Given the description of an element on the screen output the (x, y) to click on. 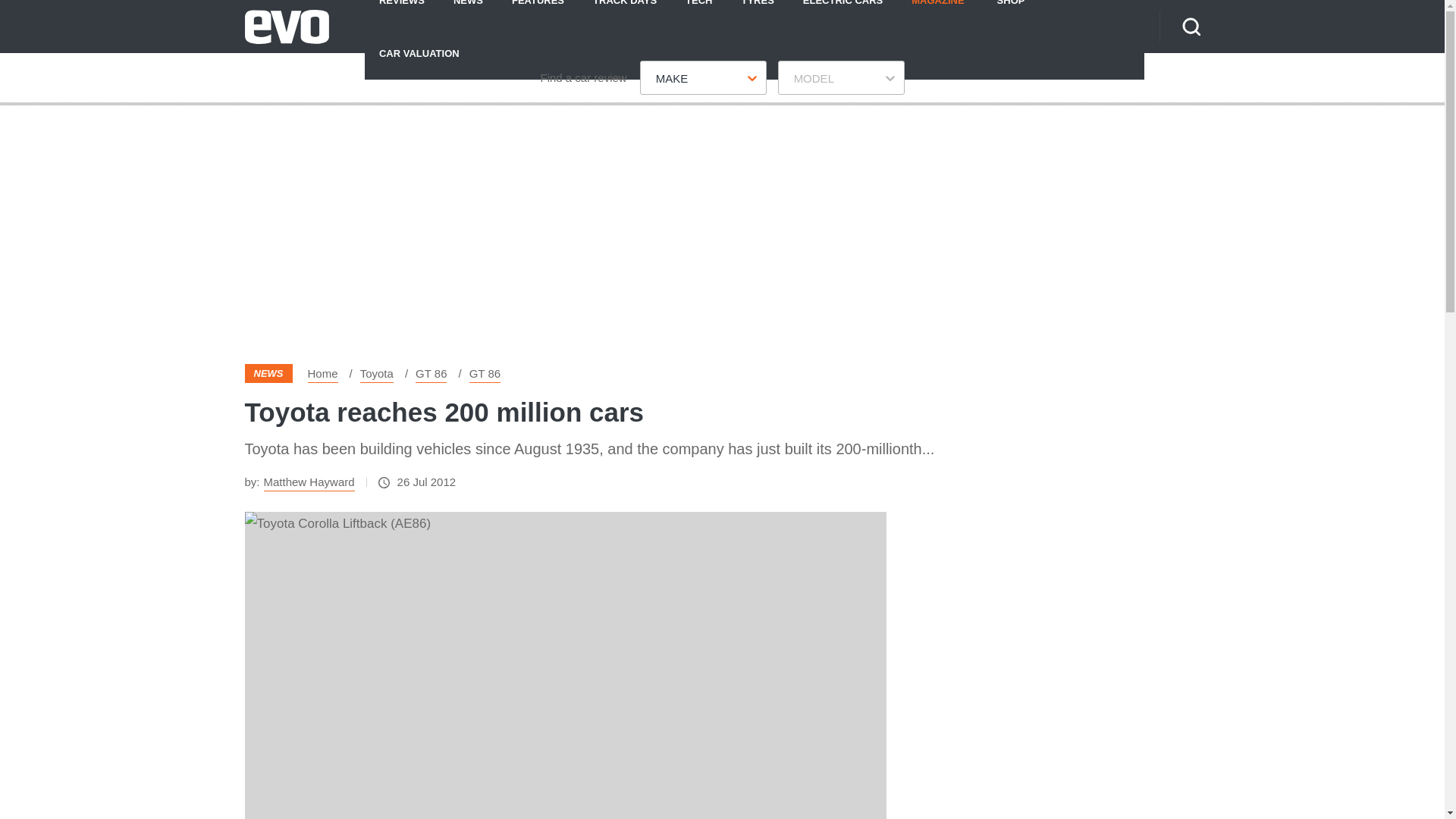
NEWS (468, 13)
SHOP (1010, 13)
MAGAZINE (937, 13)
CAR VALUATION (419, 52)
REVIEWS (402, 13)
ELECTRIC CARS (842, 13)
TYRES (756, 13)
TRACK DAYS (624, 13)
Search (1189, 26)
TECH (698, 13)
FEATURES (537, 13)
